Given the description of an element on the screen output the (x, y) to click on. 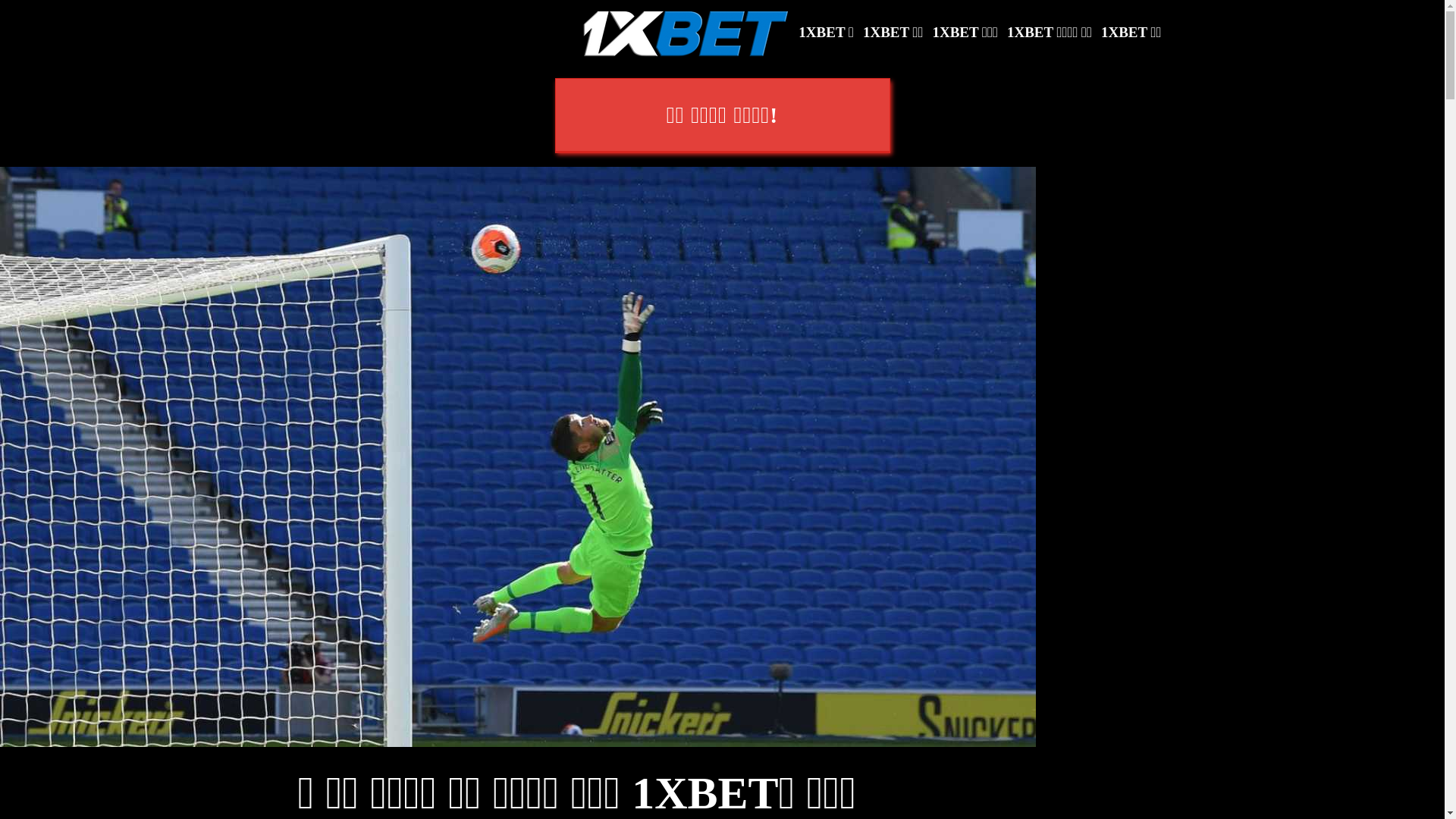
1xbet-korea-app.com Element type: hover (686, 31)
1xbet-korea-app.com Element type: hover (686, 32)
SKIP TO CONTENT Element type: text (0, 0)
